Given the description of an element on the screen output the (x, y) to click on. 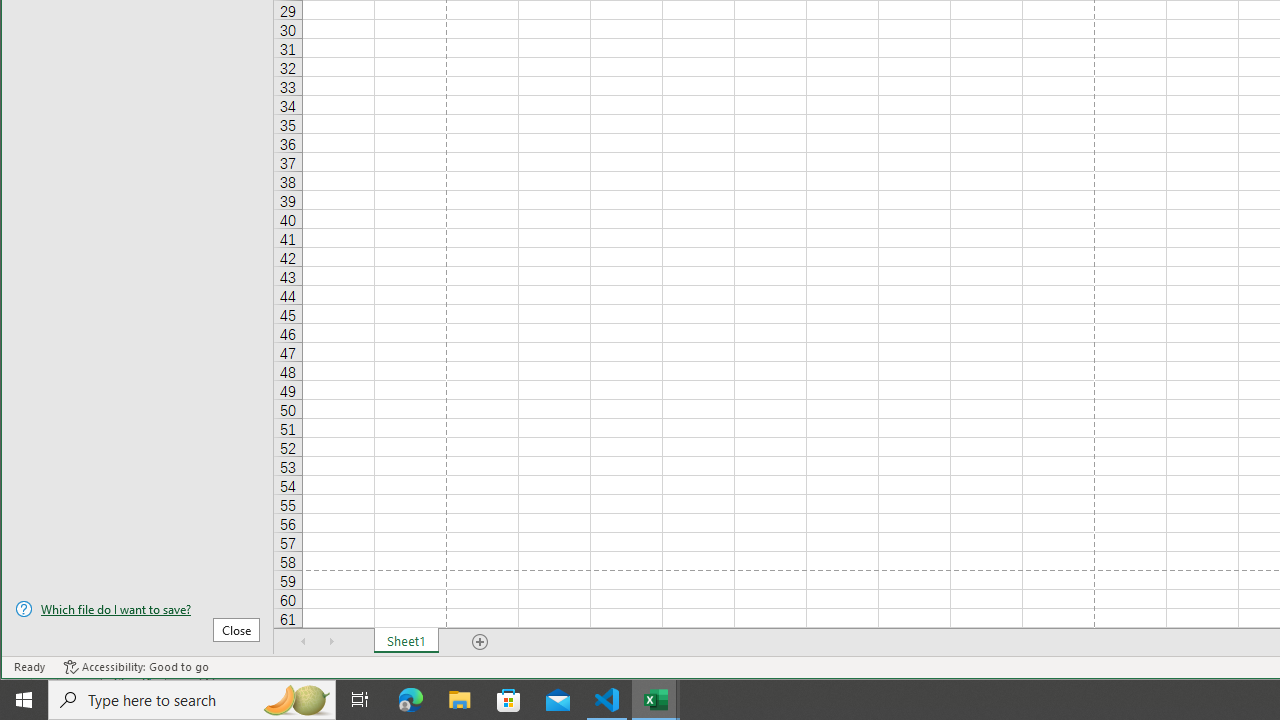
File Explorer (460, 699)
